Given the description of an element on the screen output the (x, y) to click on. 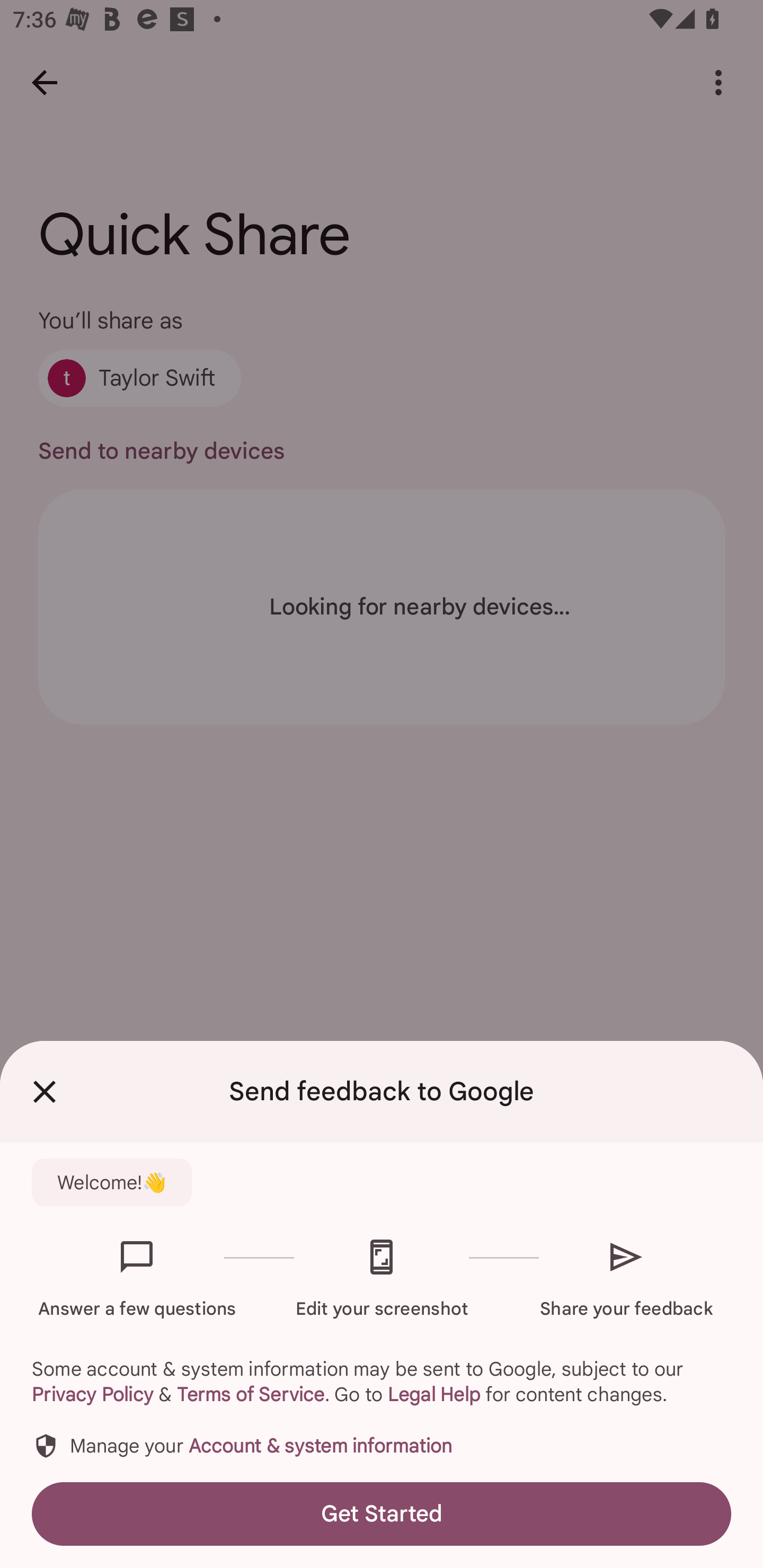
Close Feedback (44, 1091)
Get Started (381, 1513)
